Given the description of an element on the screen output the (x, y) to click on. 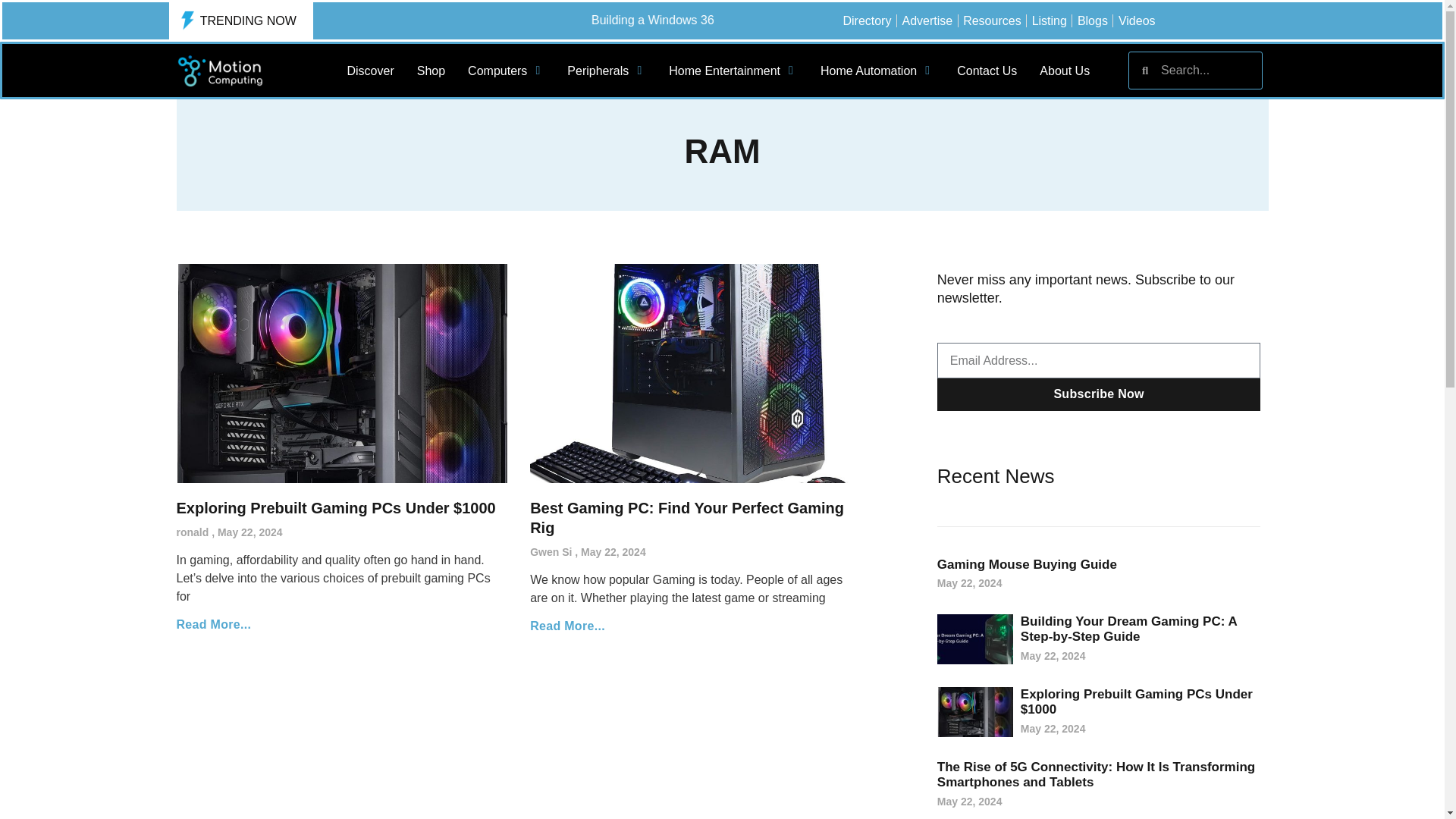
Shop (430, 70)
Peripherals (597, 70)
Discover (370, 70)
Computers (497, 70)
